Given the description of an element on the screen output the (x, y) to click on. 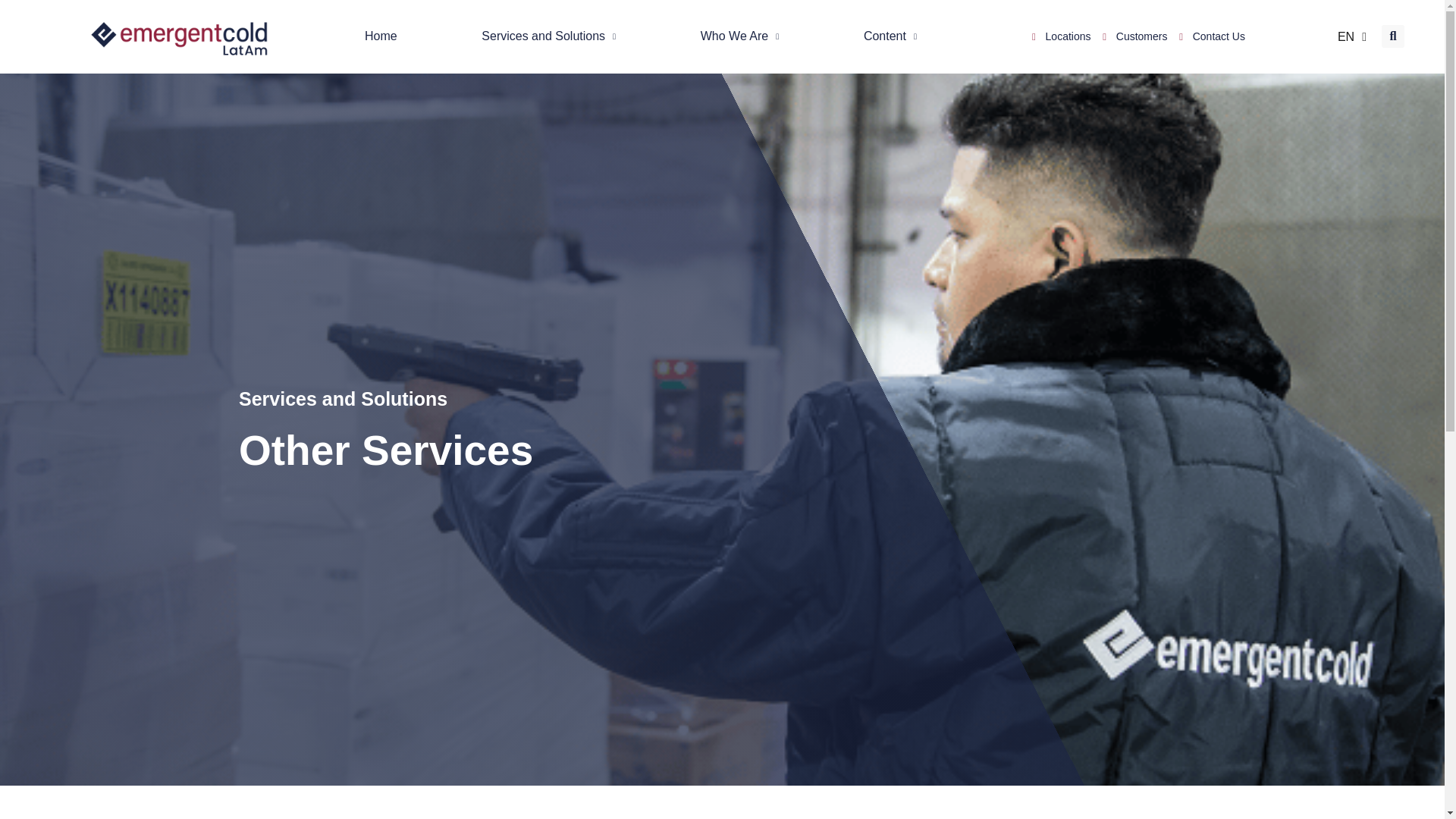
Customers (1133, 36)
Content (890, 36)
Locations (1058, 36)
EN (1348, 36)
Who We Are (739, 36)
Home (380, 36)
Contact Us (1209, 36)
Services and Solutions (548, 36)
